Given the description of an element on the screen output the (x, y) to click on. 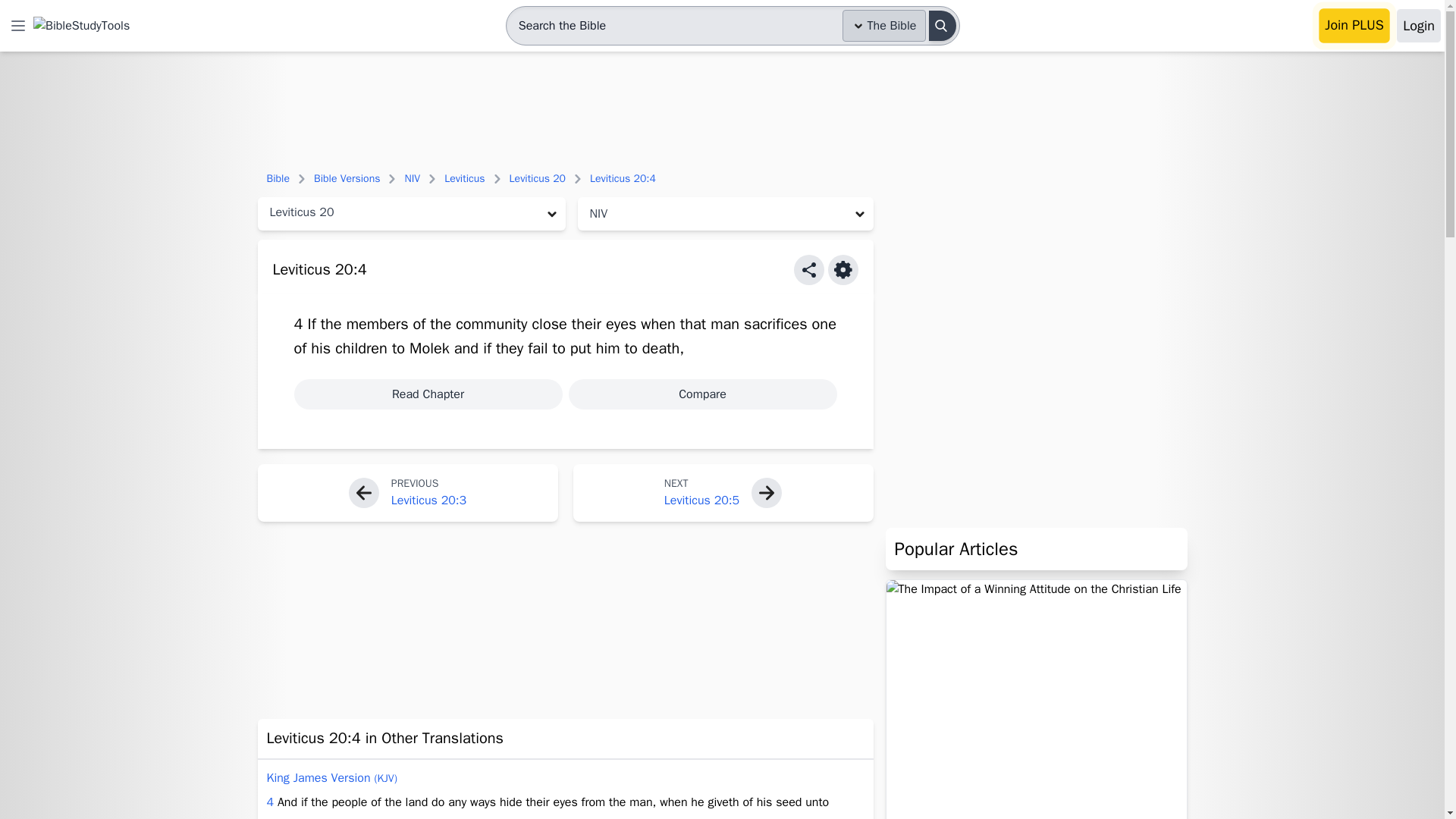
Join PLUS (1354, 25)
Scripture Settings (843, 269)
The Bible (884, 25)
Login (1418, 25)
